Given the description of an element on the screen output the (x, y) to click on. 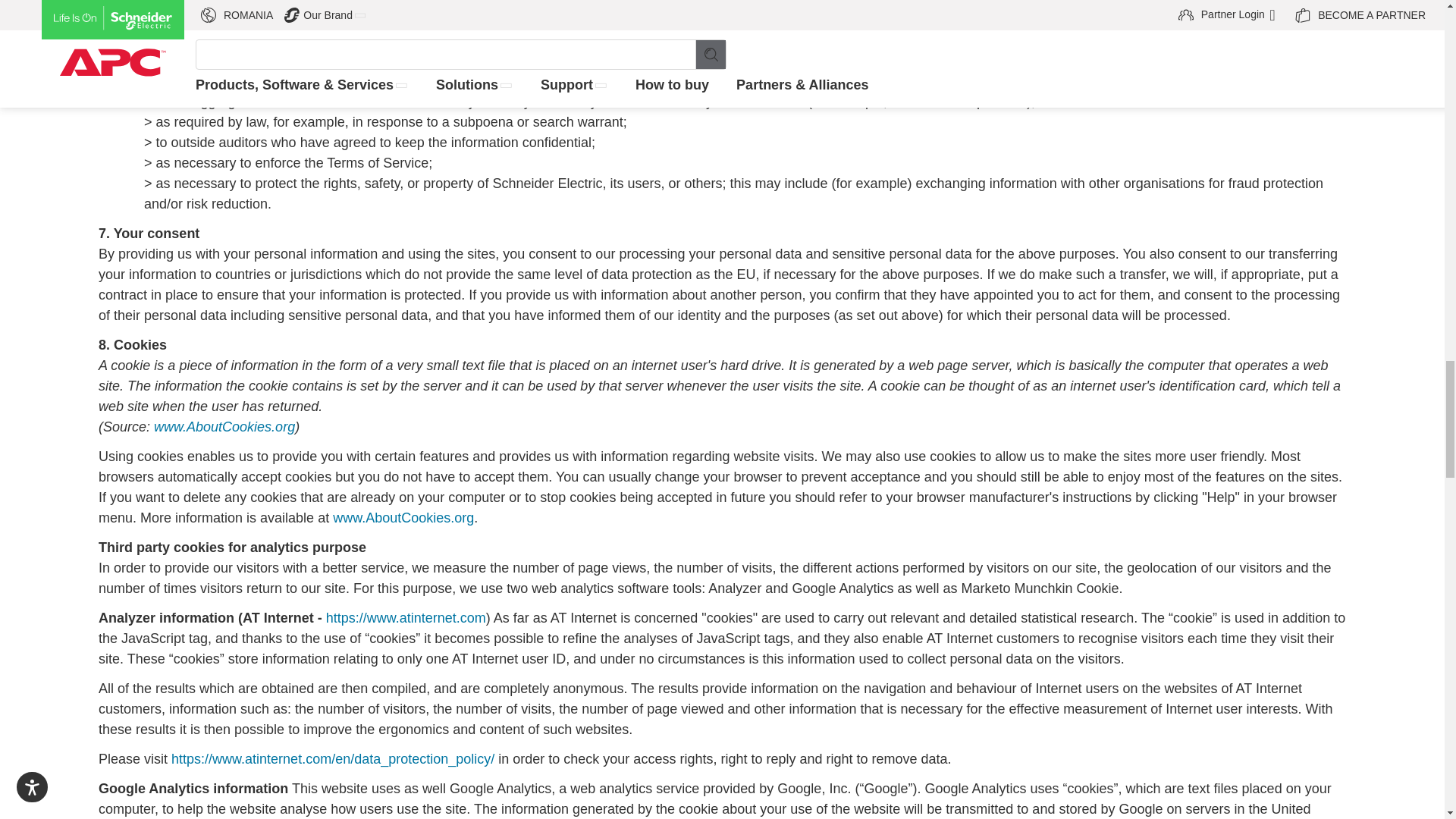
www.AboutCookies.org (224, 426)
www.AboutCookies.org (403, 517)
